Given the description of an element on the screen output the (x, y) to click on. 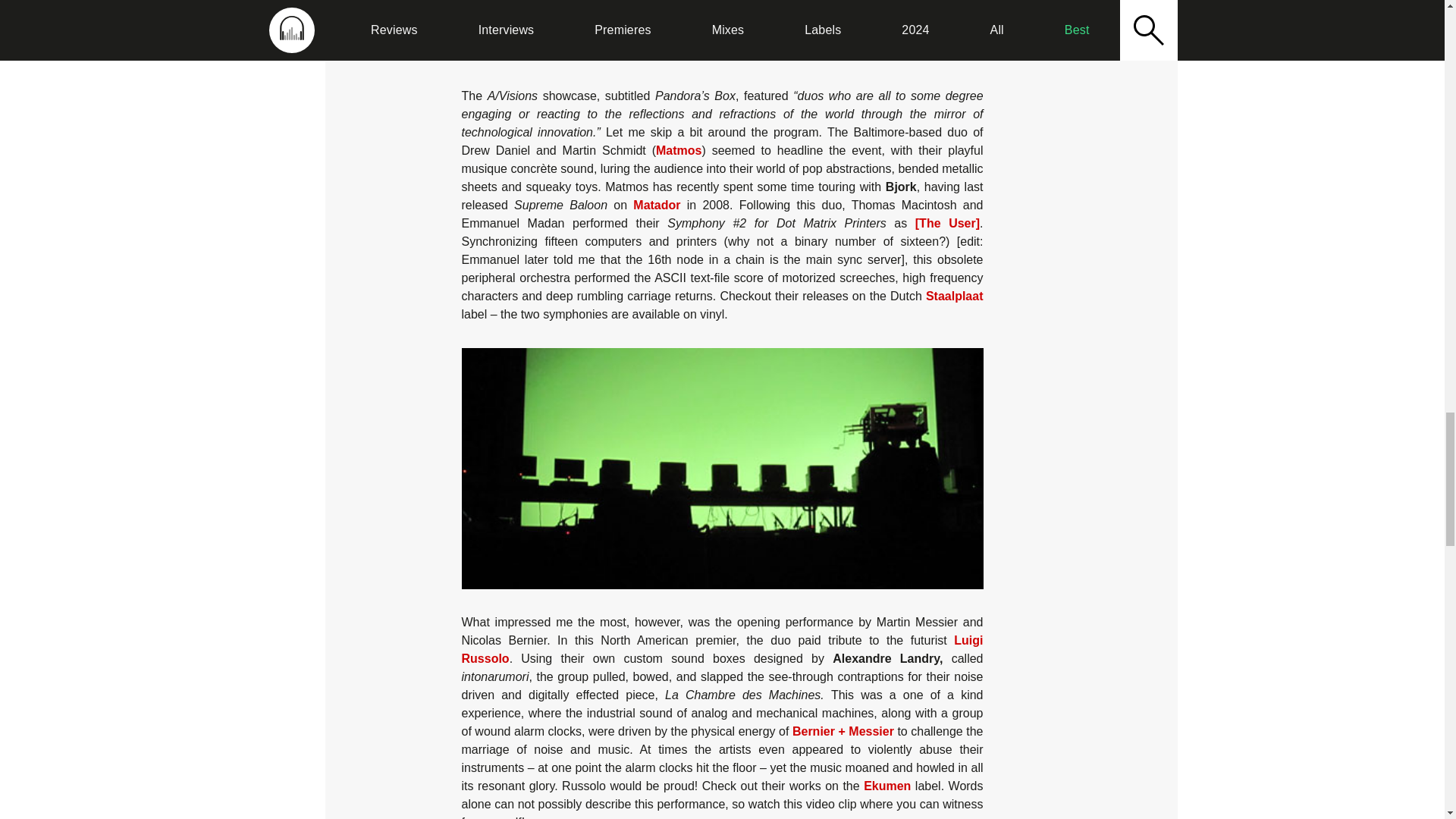
Matador (656, 205)
Staalplaat (955, 295)
Luigi Russolo (721, 649)
Matmos (678, 150)
Ekumen (887, 785)
